Given the description of an element on the screen output the (x, y) to click on. 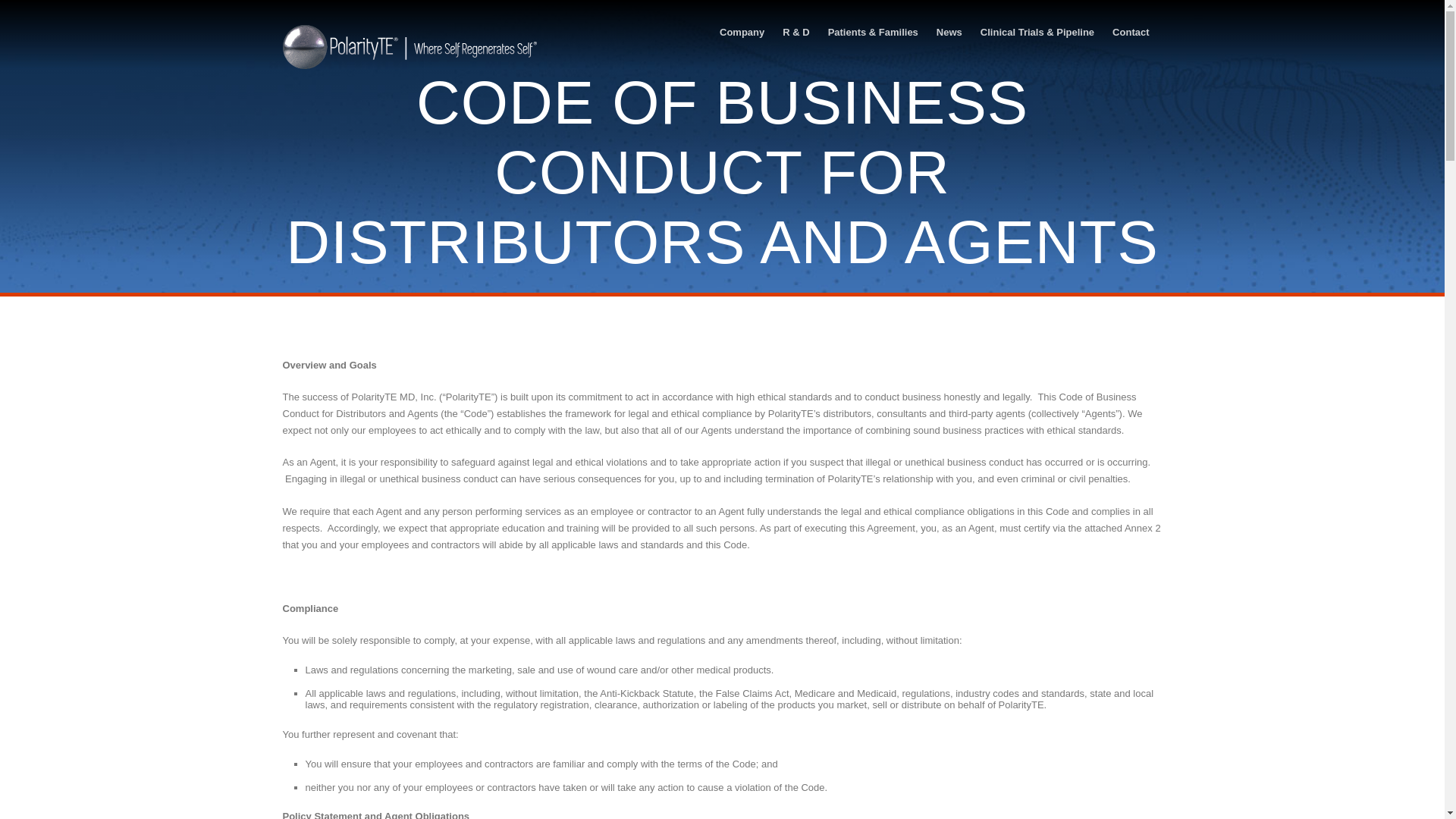
News (949, 32)
Company (741, 32)
Contact (1130, 32)
